Given the description of an element on the screen output the (x, y) to click on. 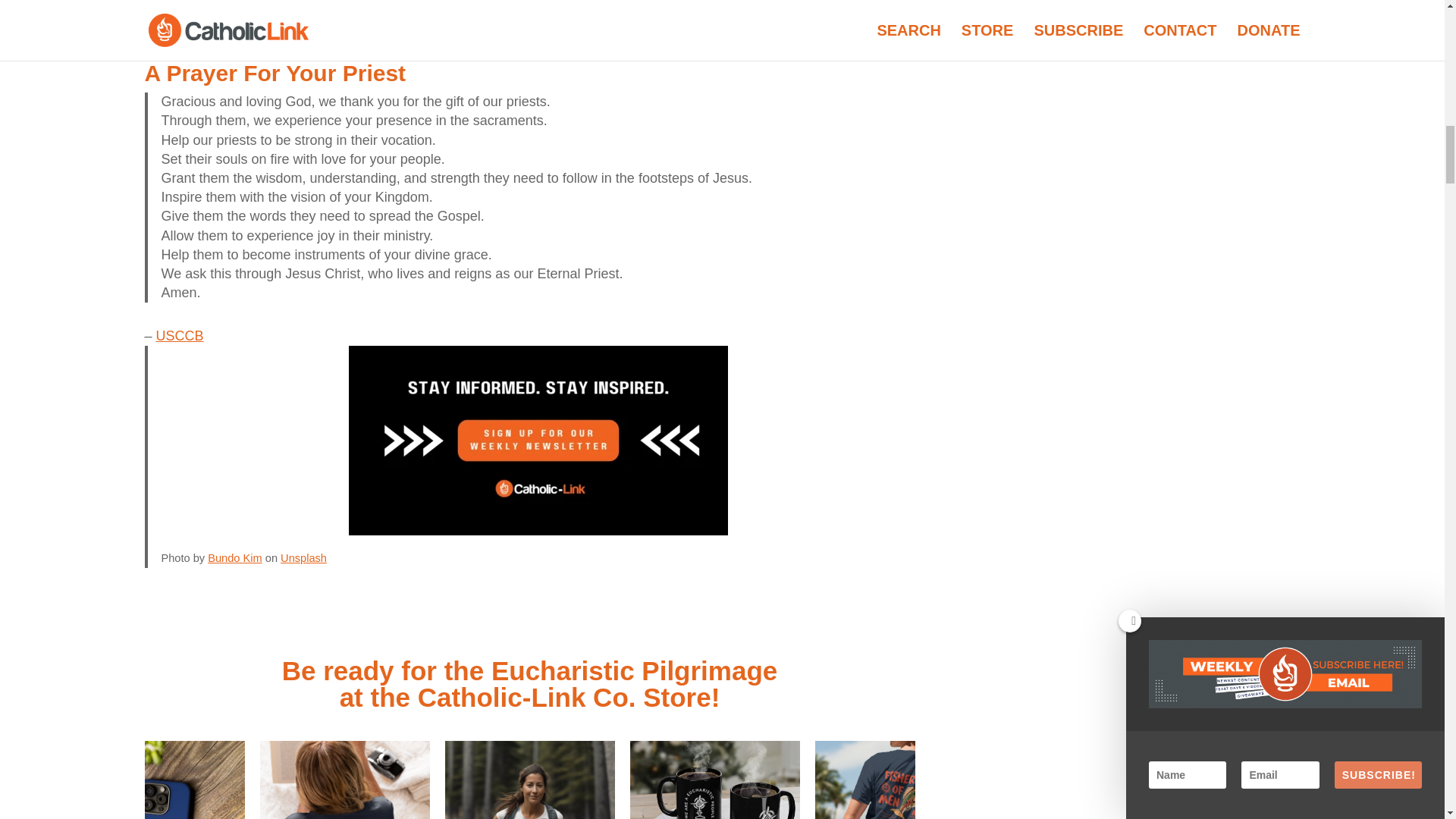
Bundo Kim (235, 558)
Unsplash (303, 558)
USCCB (179, 335)
